Given the description of an element on the screen output the (x, y) to click on. 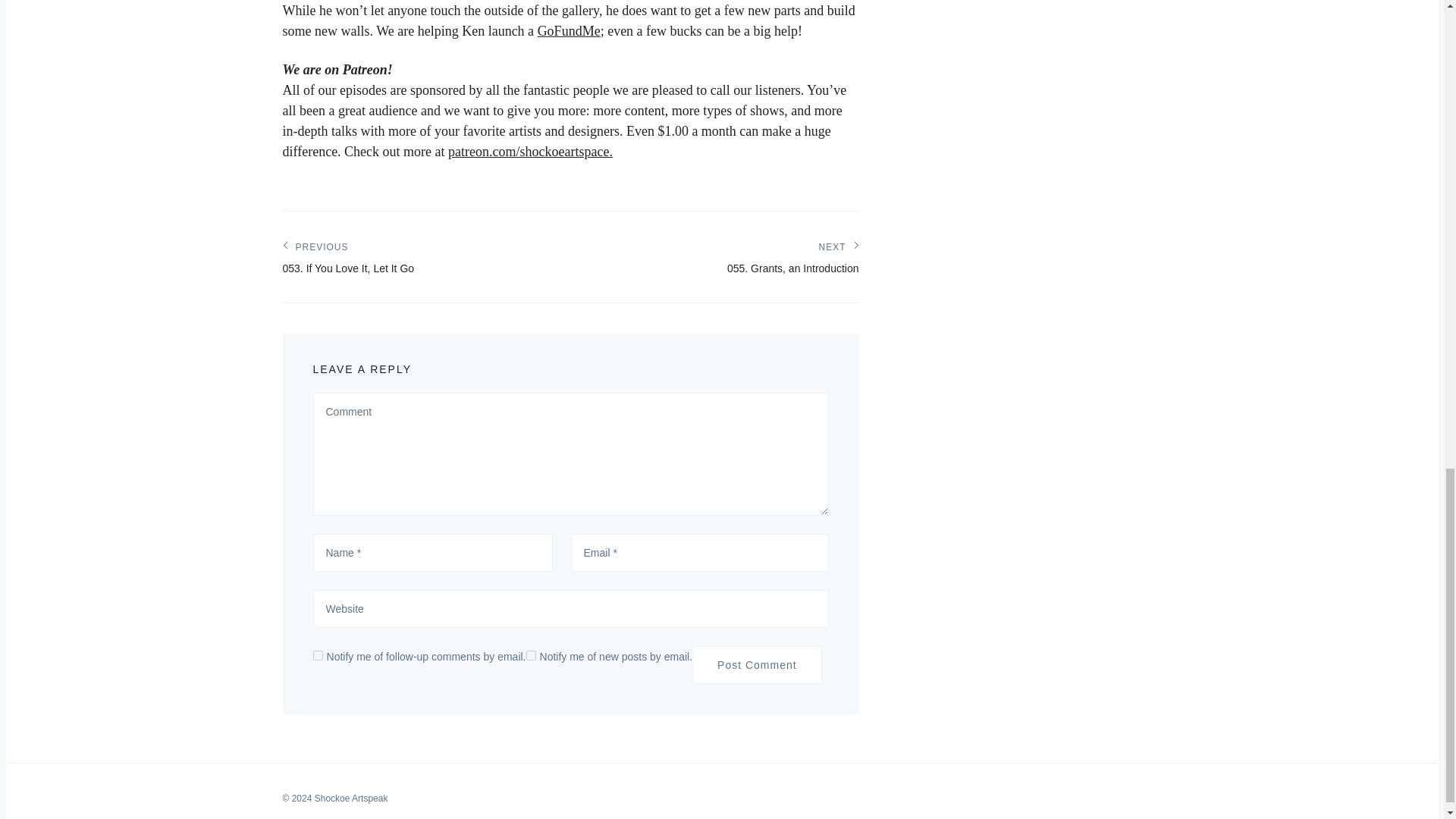
GoFundMe (568, 29)
subscribe (530, 655)
Post Comment (792, 254)
Post Comment (757, 664)
subscribe (757, 664)
Shockoe Artspeak (347, 254)
